Given the description of an element on the screen output the (x, y) to click on. 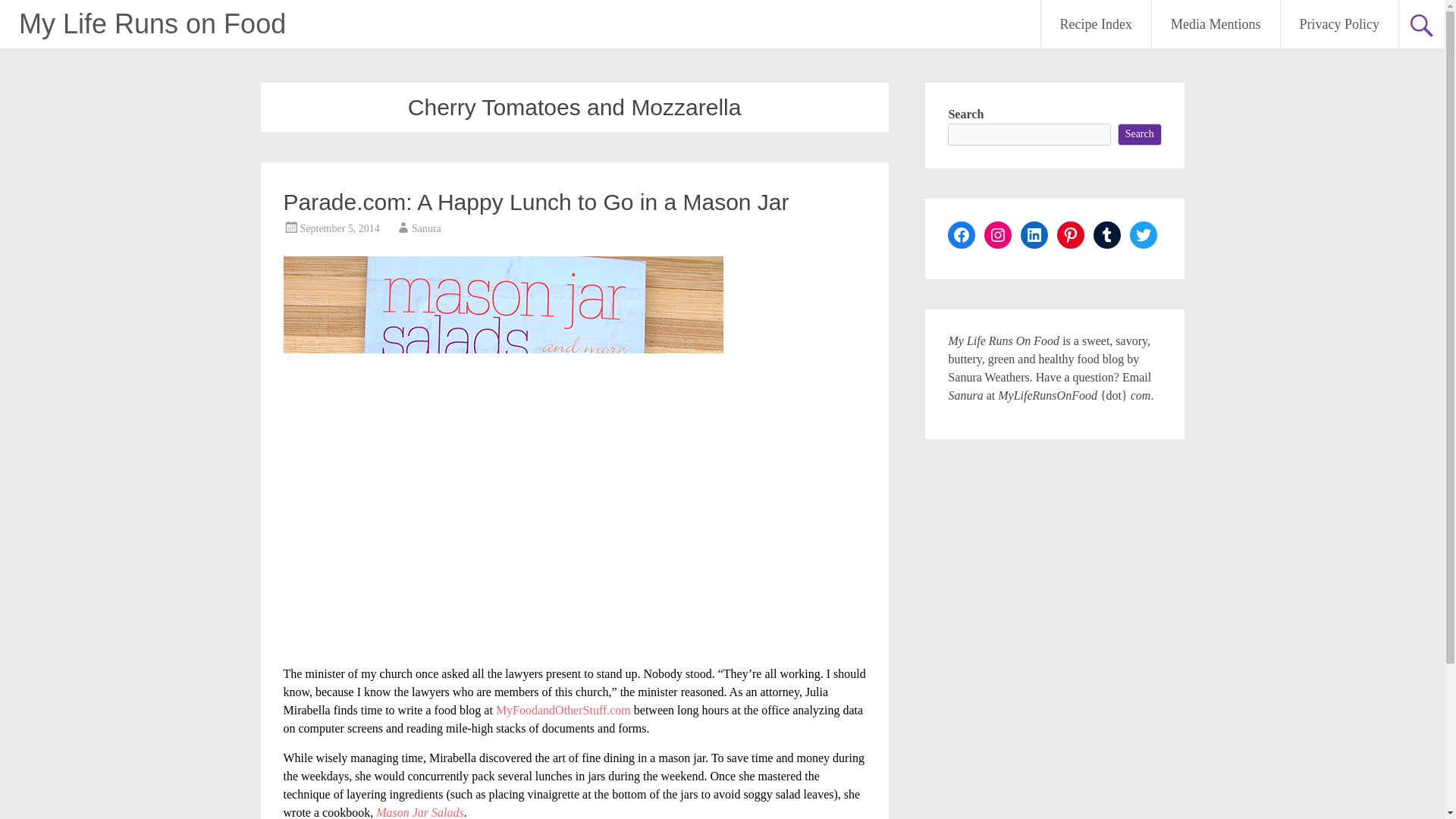
September 5, 2014 (339, 228)
LinkedIn (1034, 234)
Pinterest (1070, 234)
Mason Jar Salads (419, 812)
Tumblr (1107, 234)
Twitter (1143, 234)
MyFoodandOtherStuff.com (563, 709)
Media Mentions (1215, 24)
Instagram (997, 234)
Parade.com: A Happy Lunch to Go in a Mason Jar (536, 201)
Privacy Policy (1338, 24)
Sanura (426, 228)
Recipe Index (1096, 24)
My Life Runs on Food (151, 23)
Facebook (961, 234)
